Given the description of an element on the screen output the (x, y) to click on. 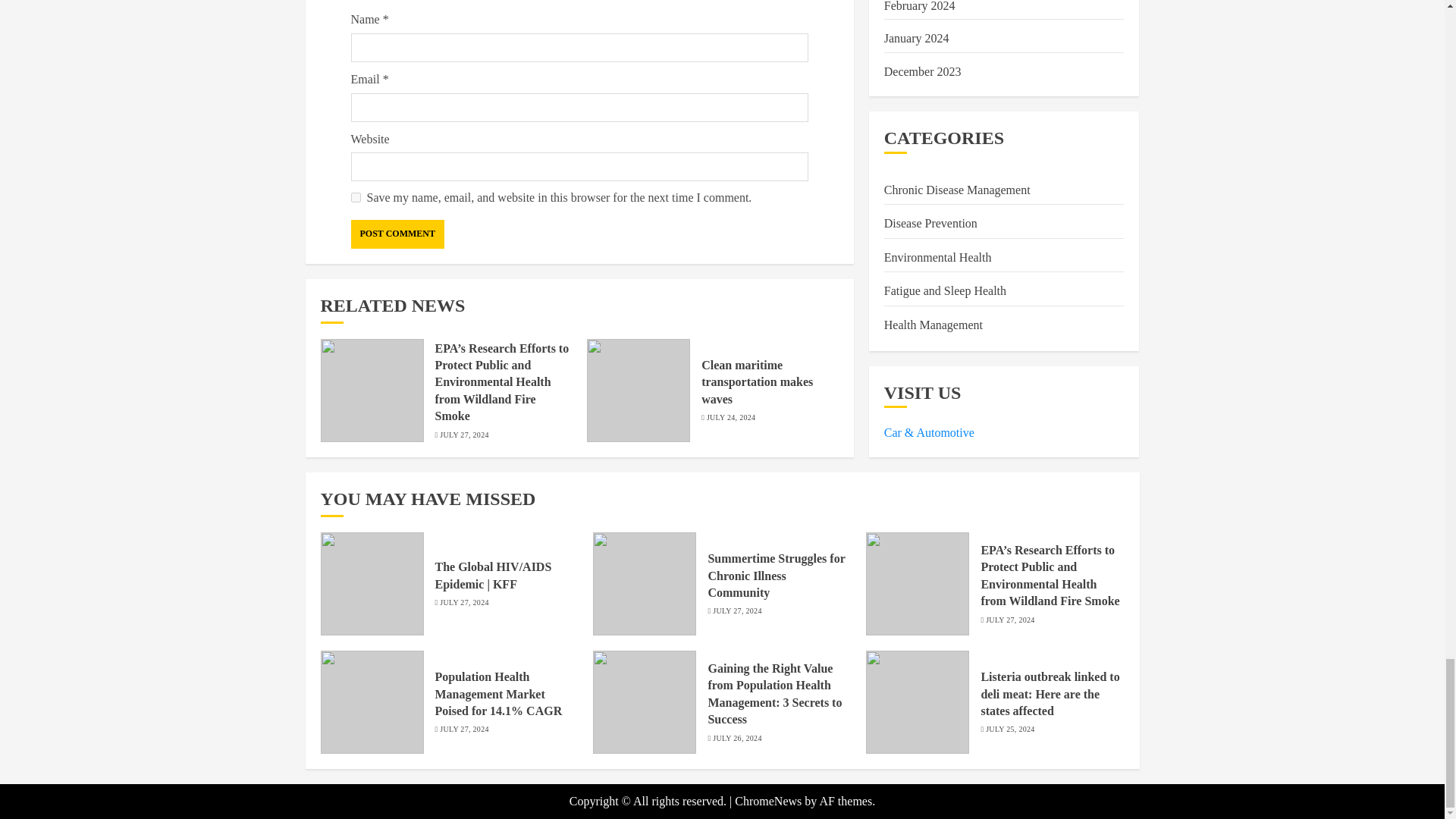
Post Comment (397, 234)
yes (354, 197)
Post Comment (397, 234)
